Given the description of an element on the screen output the (x, y) to click on. 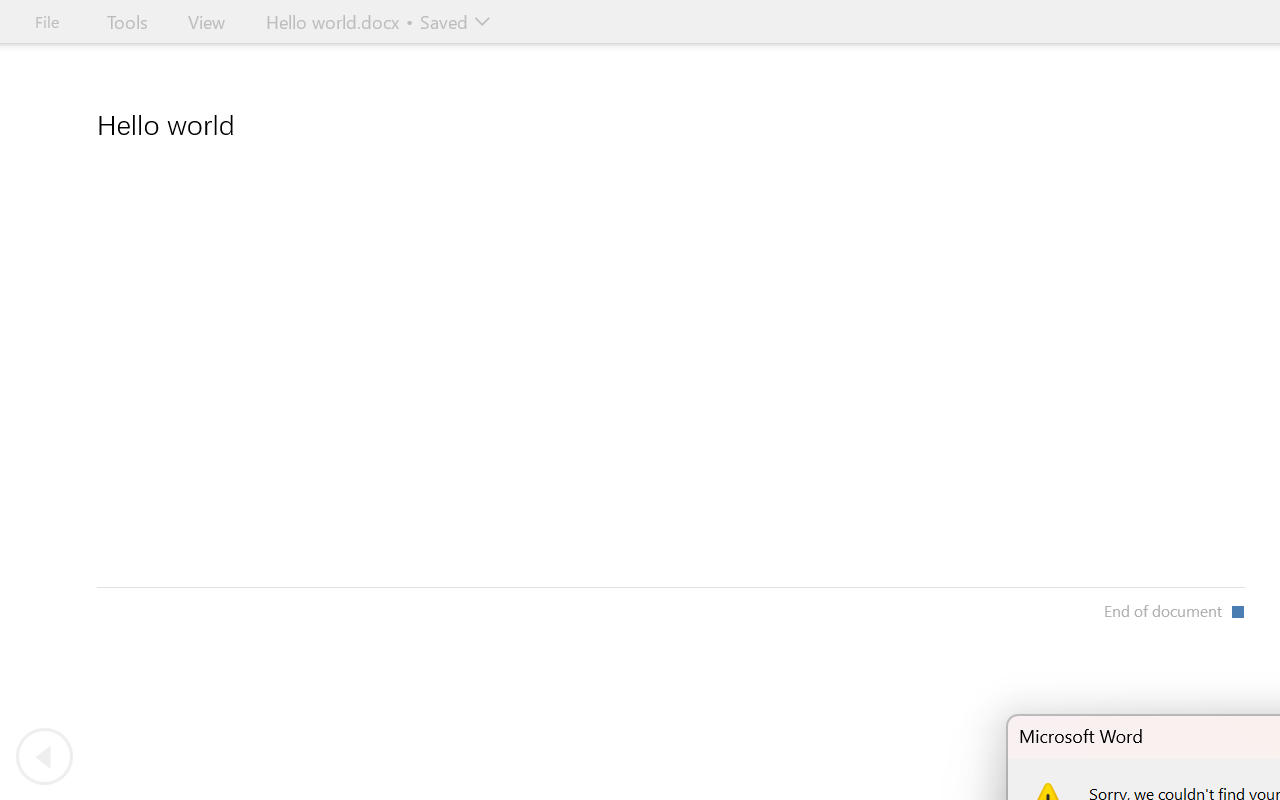
Tools (127, 21)
View (205, 21)
File Tab (46, 21)
